Given the description of an element on the screen output the (x, y) to click on. 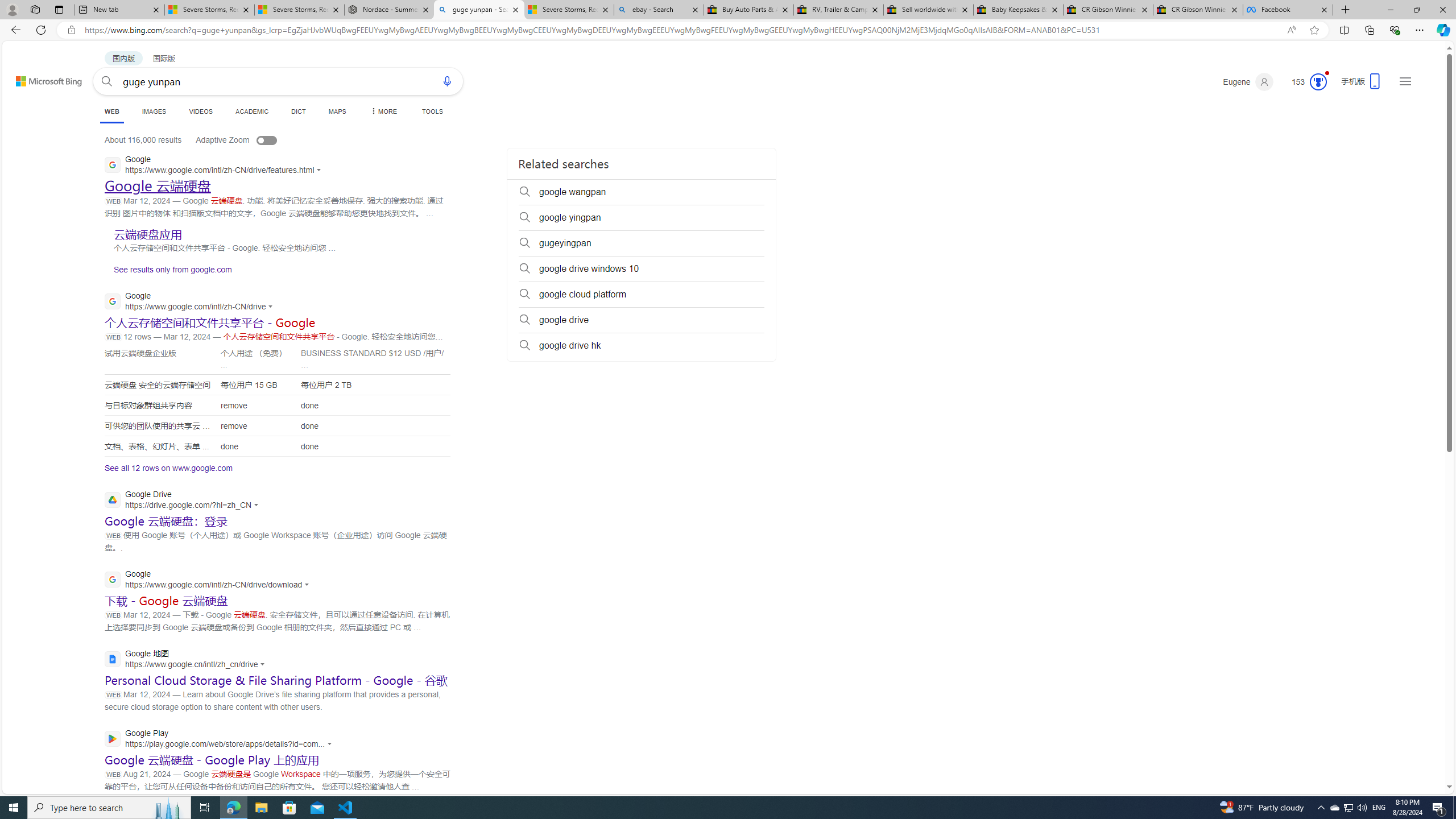
Minimize (1390, 9)
Search (106, 80)
Close tab (1324, 9)
Collections (1369, 29)
IMAGES (153, 111)
Tab actions menu (58, 9)
App bar (728, 29)
Copilot (Ctrl+Shift+.) (1442, 29)
google yingpan (641, 217)
Buy Auto Parts & Accessories | eBay (747, 9)
Nordace - Summer Adventures 2024 (389, 9)
Dropdown Menu (382, 111)
Restore (1416, 9)
